Given the description of an element on the screen output the (x, y) to click on. 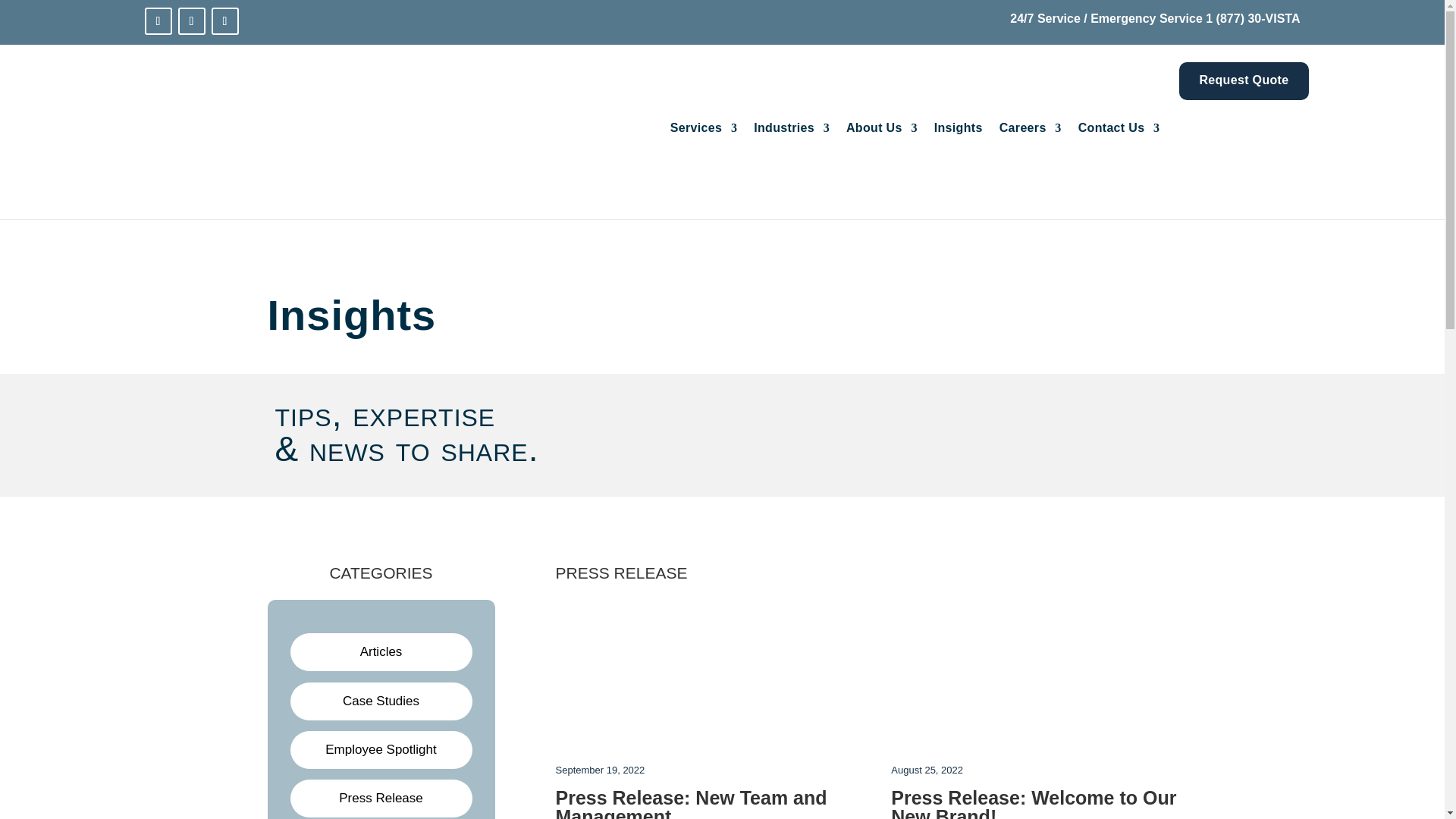
Follow on Facebook (191, 21)
Follow on Instagram (224, 21)
Follow on LinkedIn (157, 21)
